Given the description of an element on the screen output the (x, y) to click on. 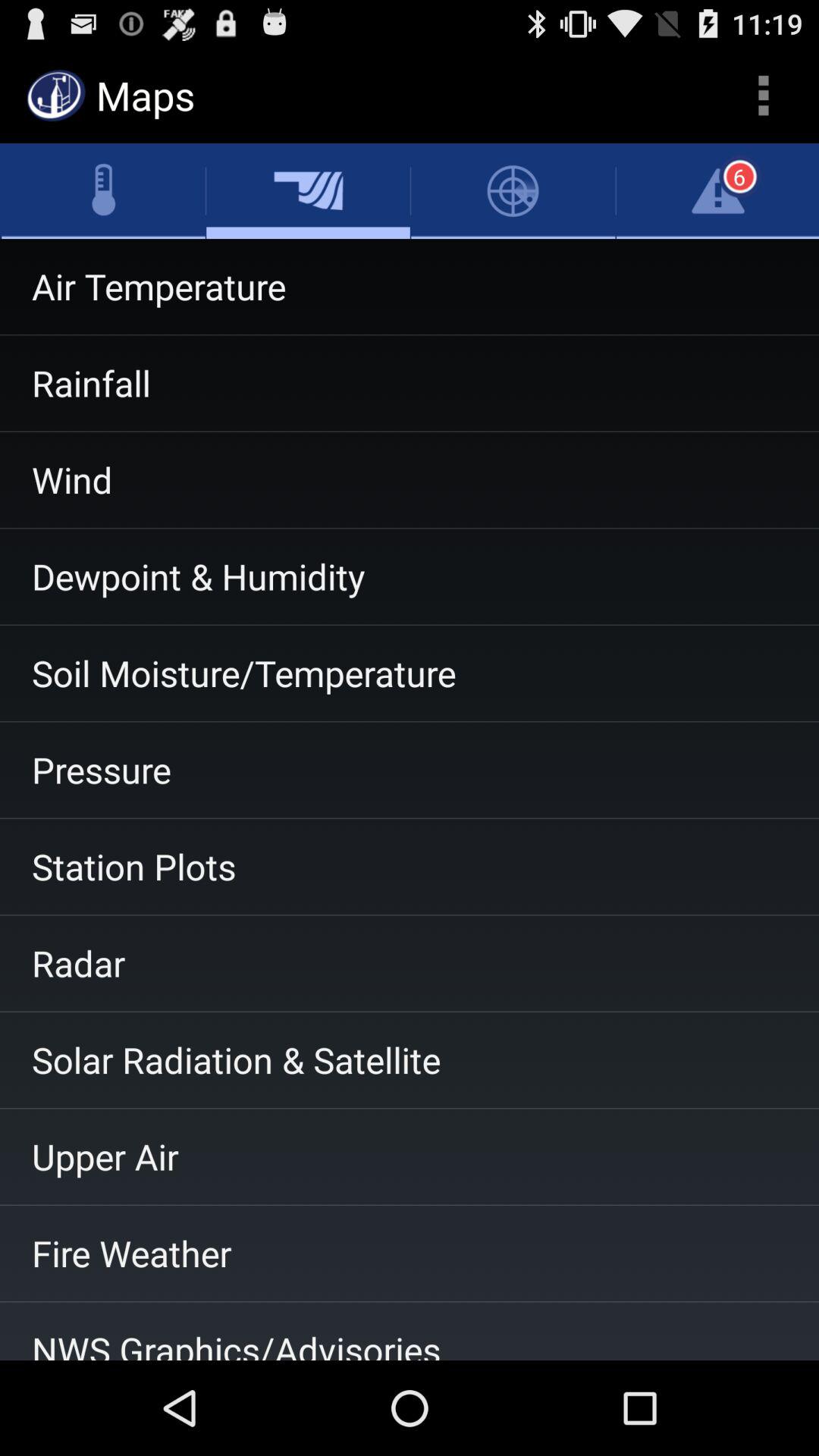
tap app above rainfall item (409, 286)
